Given the description of an element on the screen output the (x, y) to click on. 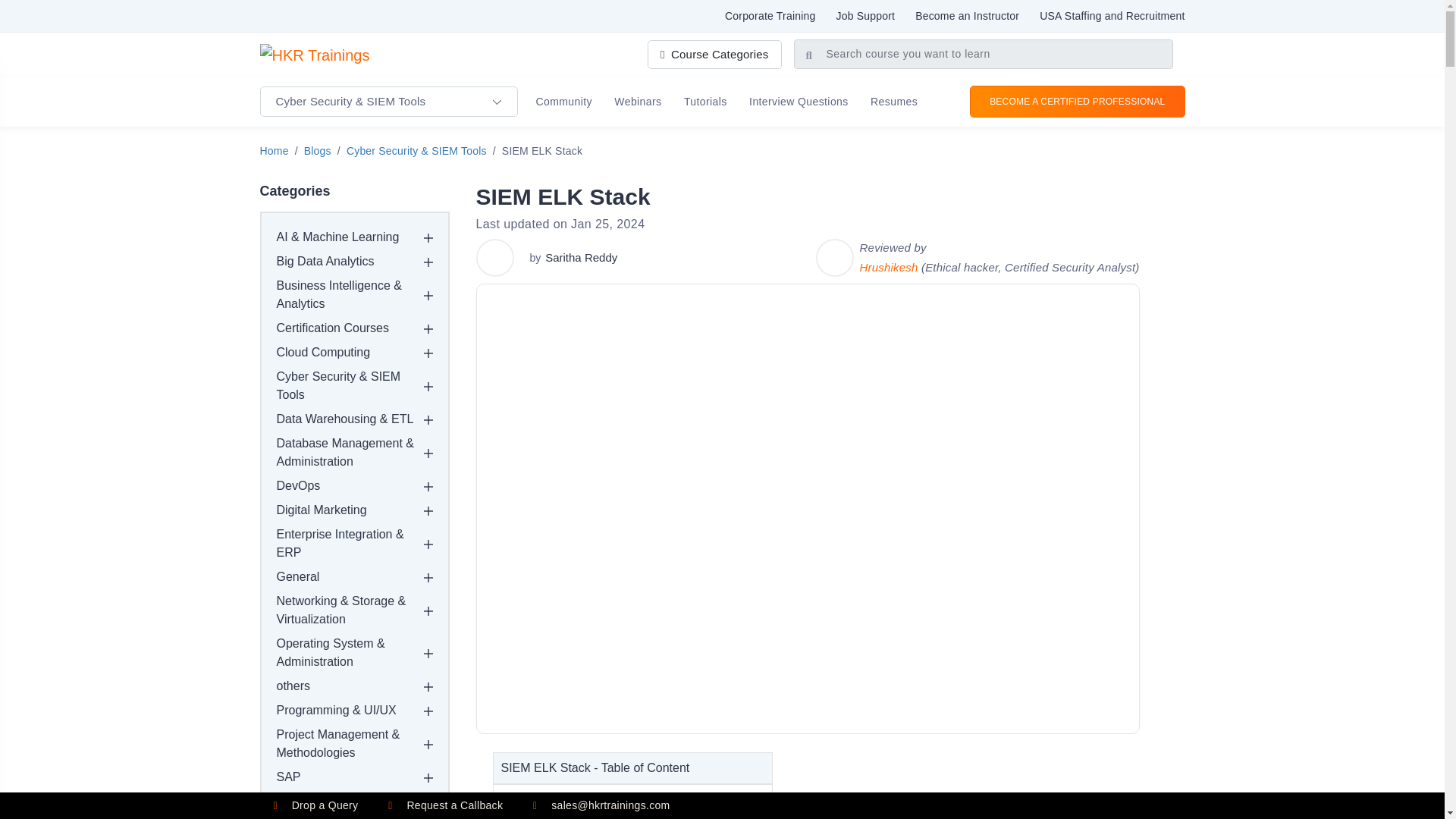
Become an Instructor (967, 15)
Job Support (865, 15)
Corporate Training (770, 15)
USA Staffing and Recruitment (1112, 15)
Course Categories (714, 54)
